Given the description of an element on the screen output the (x, y) to click on. 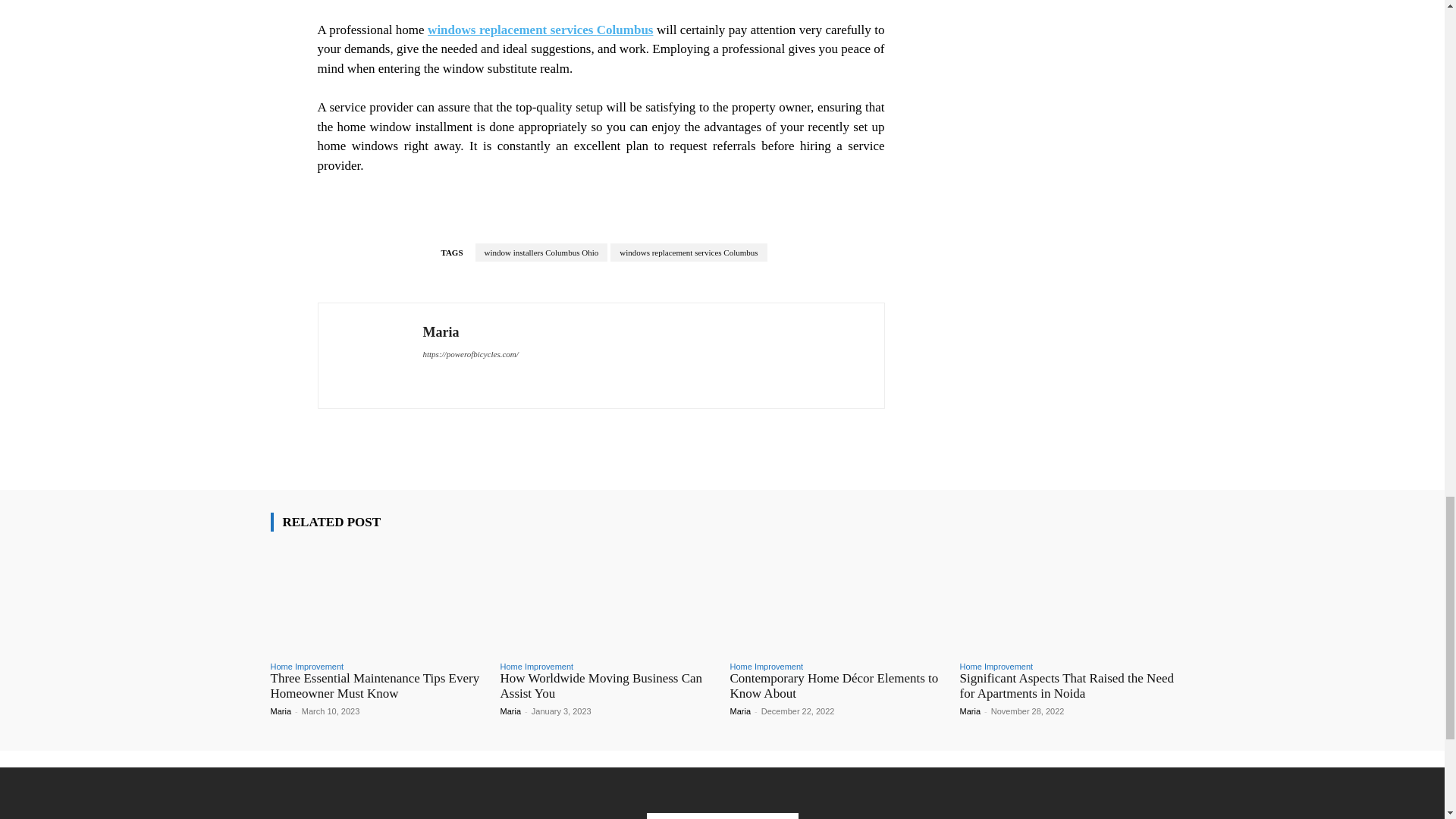
Maria (369, 355)
windows replacement services Columbus (540, 29)
window installers Columbus Ohio (542, 252)
Maria (470, 332)
windows replacement services Columbus (688, 252)
